Given the description of an element on the screen output the (x, y) to click on. 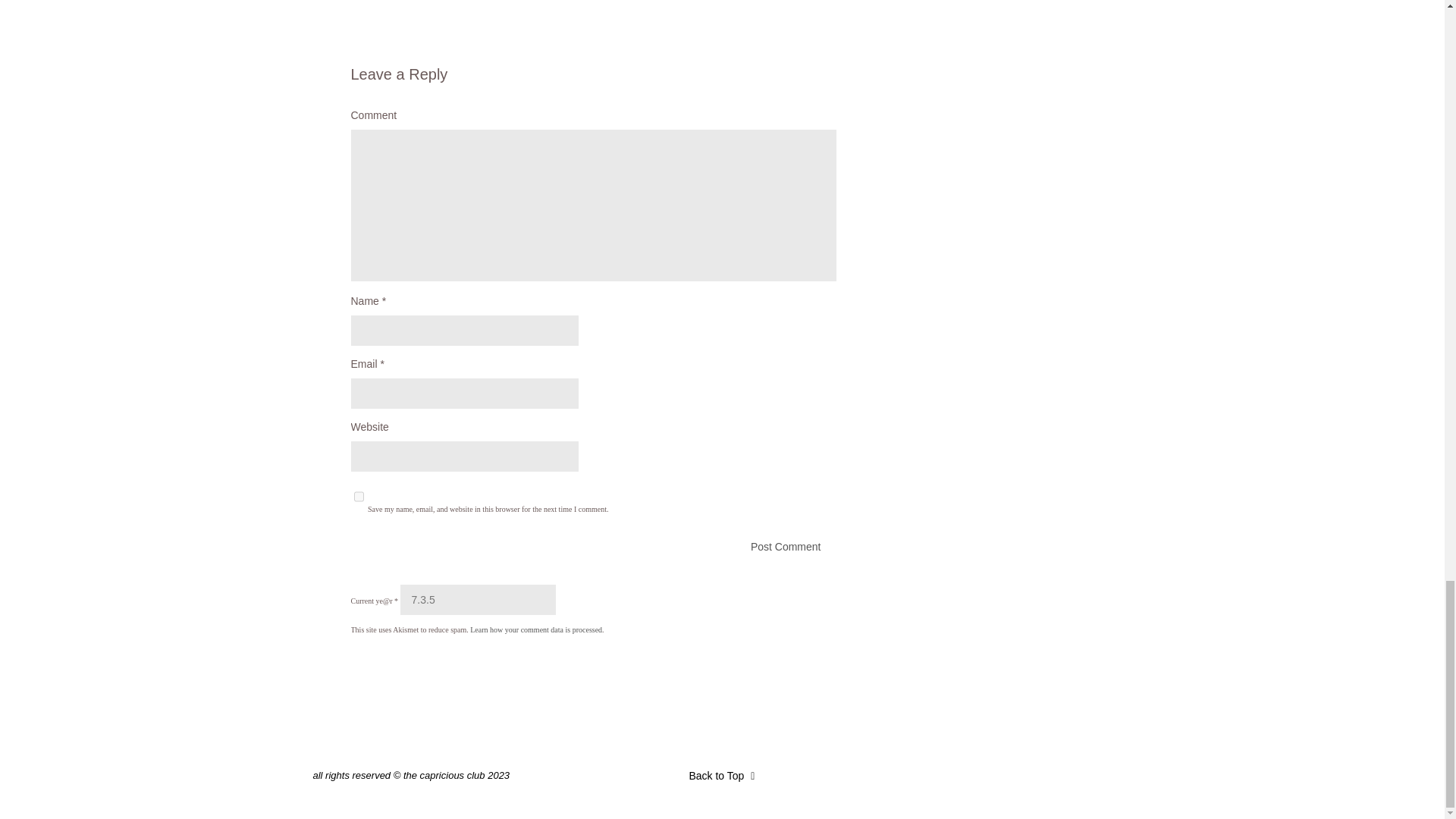
Post Comment (592, 546)
7.3.5 (478, 599)
Post Comment (592, 546)
Learn how your comment data is processed (536, 629)
